Given the description of an element on the screen output the (x, y) to click on. 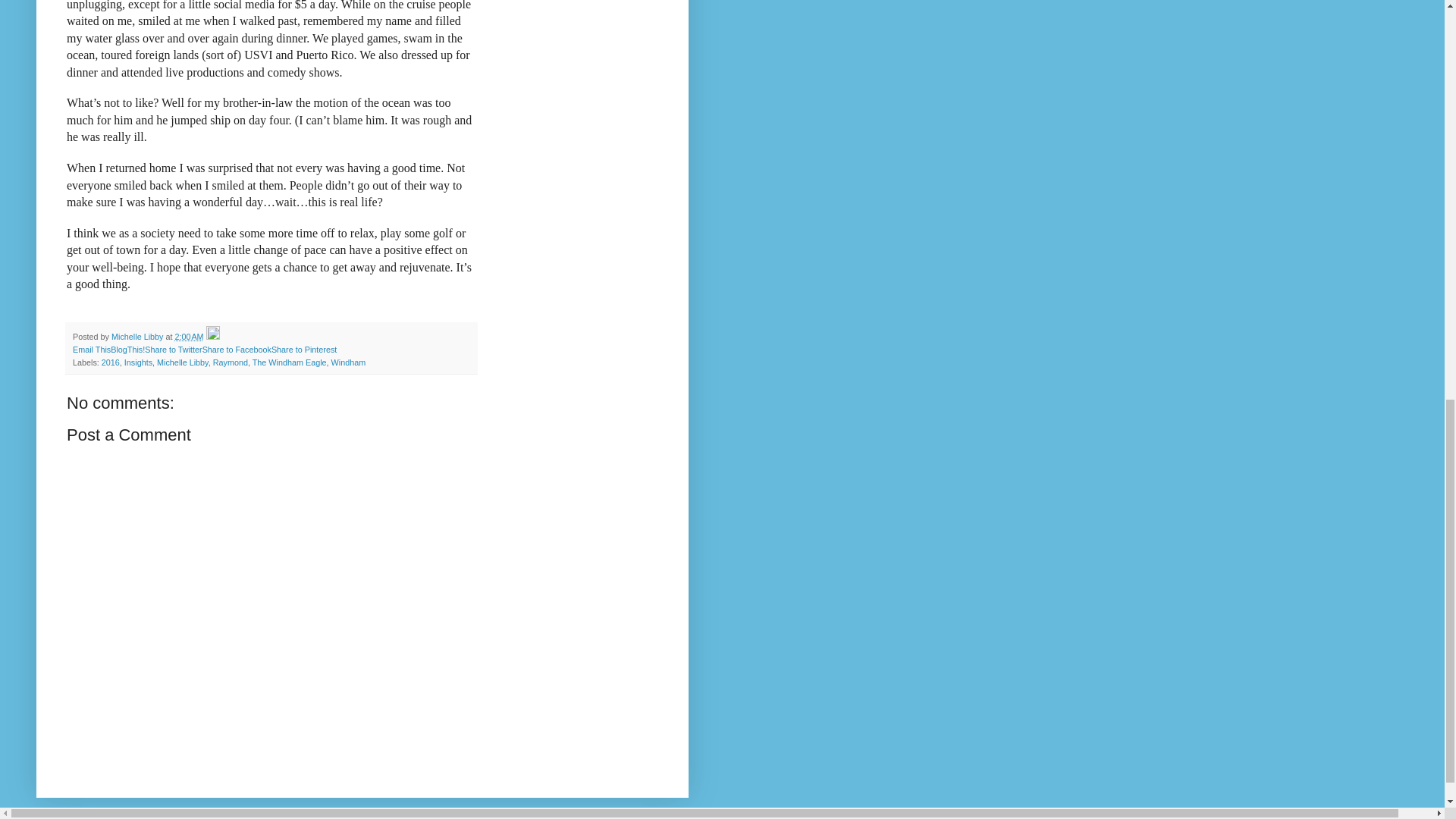
2016 (110, 361)
Michelle Libby (138, 336)
The Windham Eagle (288, 361)
BlogThis! (127, 348)
Share to Twitter (173, 348)
author profile (138, 336)
Raymond (229, 361)
Share to Pinterest (303, 348)
Share to Facebook (236, 348)
